Given the description of an element on the screen output the (x, y) to click on. 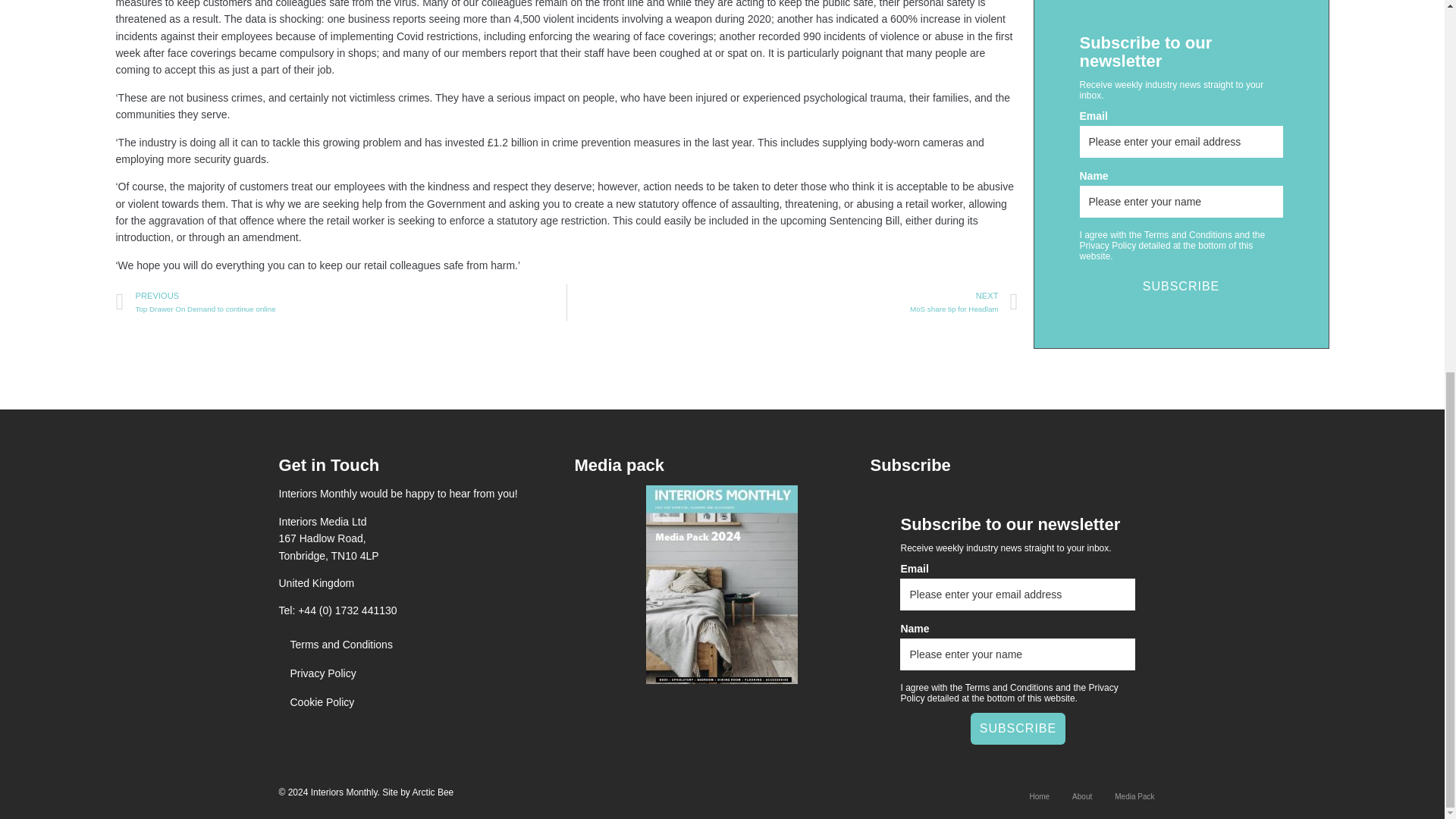
Subscribe (1181, 286)
Subscribe (1018, 728)
